Given the description of an element on the screen output the (x, y) to click on. 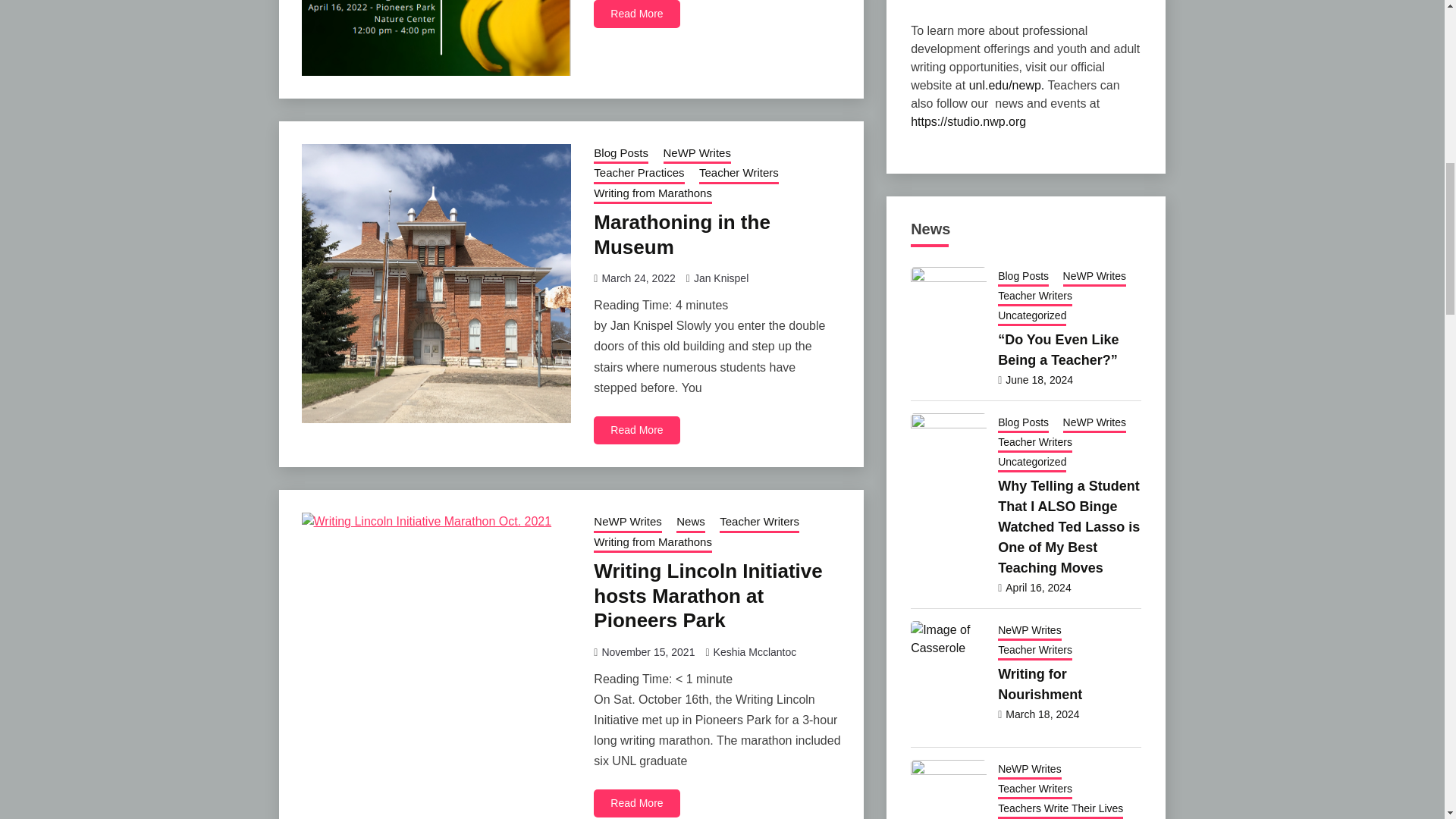
Blog Posts (620, 154)
Teacher Practices (639, 174)
NeWP Writes (696, 154)
Read More (636, 13)
Teacher Writers (738, 174)
Writing from Marathons (652, 194)
